Given the description of an element on the screen output the (x, y) to click on. 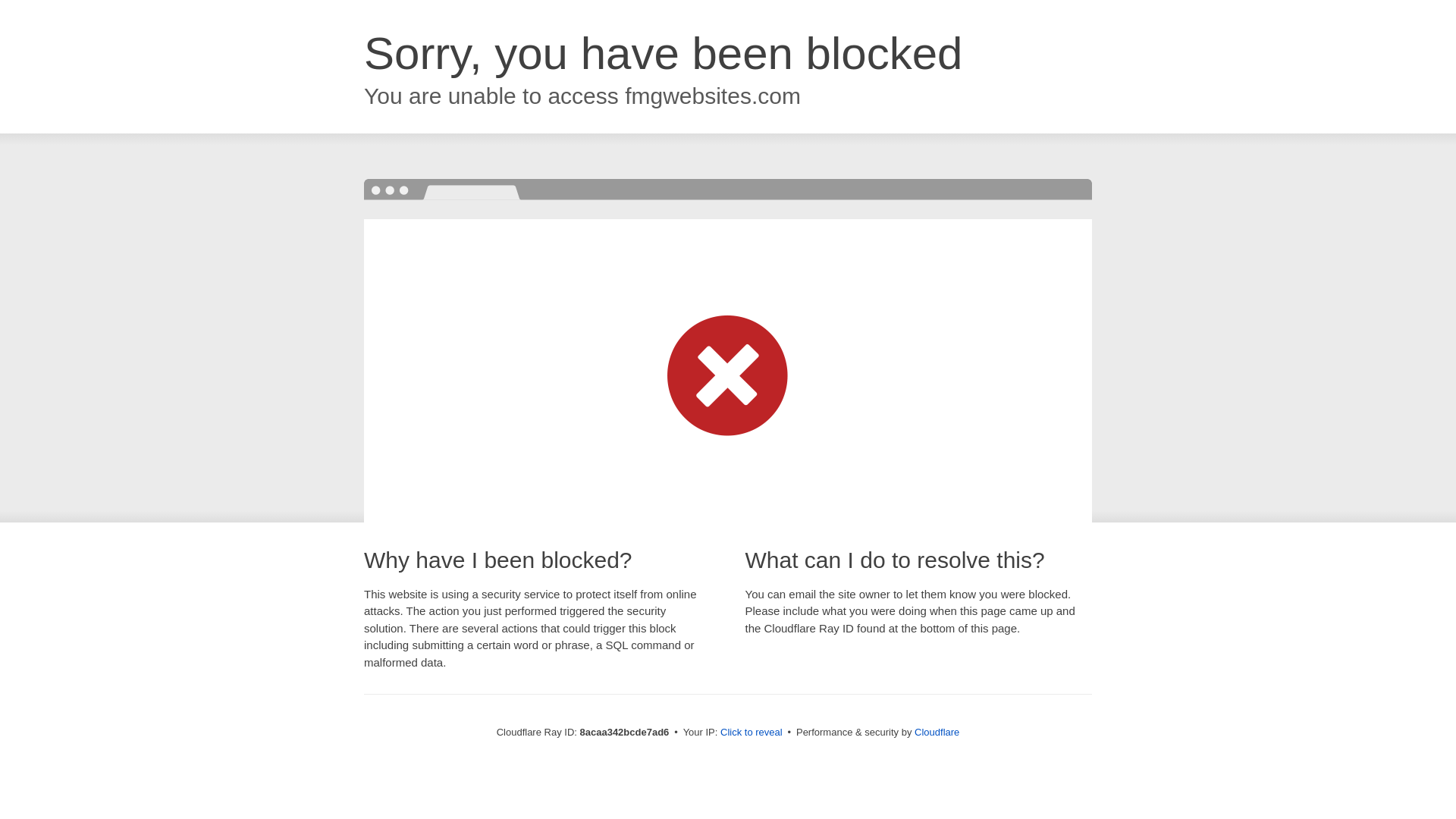
Click to reveal (751, 732)
Cloudflare (936, 731)
